Given the description of an element on the screen output the (x, y) to click on. 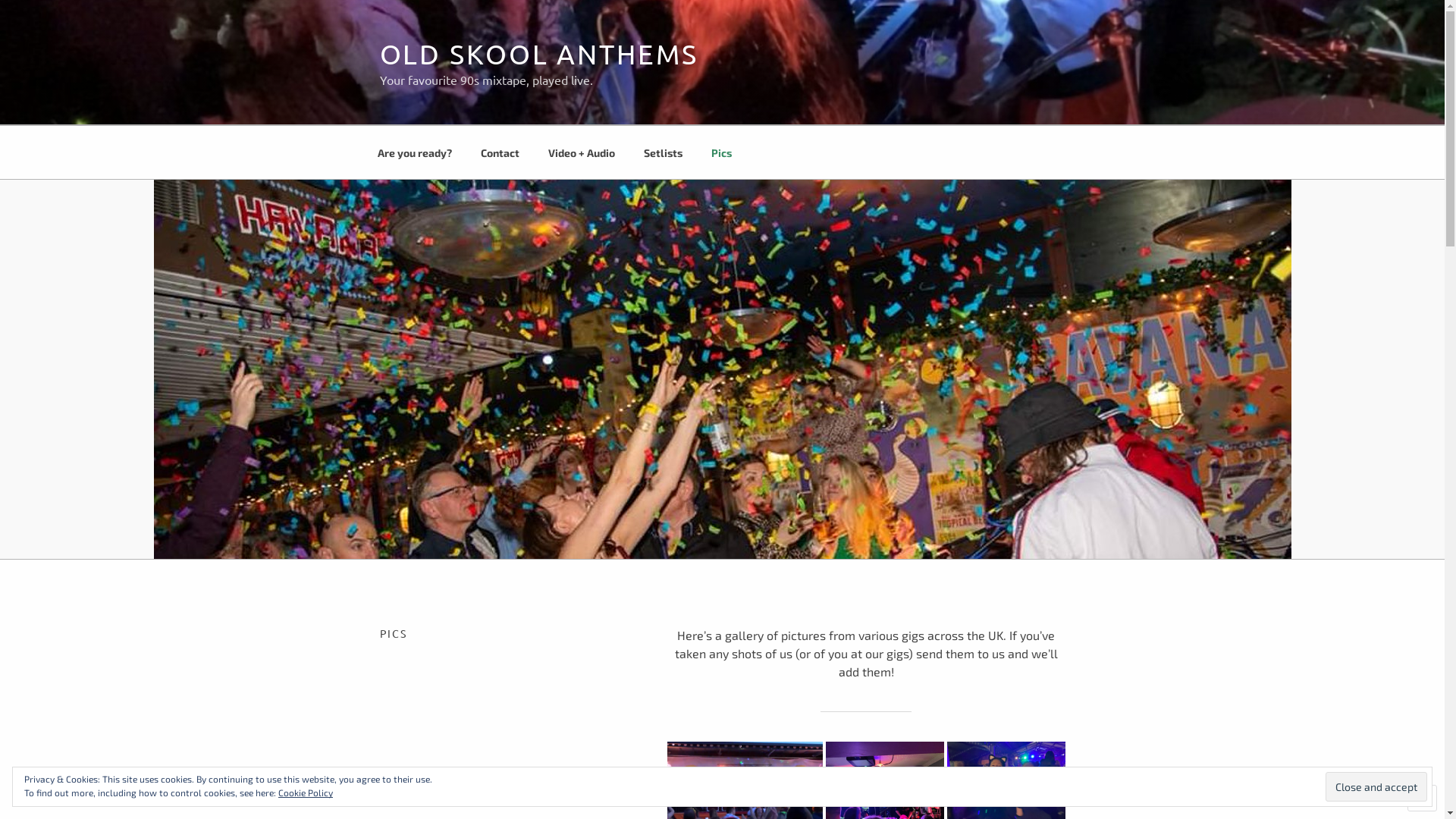
Cookie Policy Element type: text (305, 792)
OLD SKOOL ANTHEMS Element type: text (538, 53)
Close and accept Element type: text (1376, 786)
Video + Audio Element type: text (581, 151)
Contact Element type: text (499, 151)
Are you ready? Element type: text (414, 151)
Pics Element type: text (720, 151)
Setlists Element type: text (663, 151)
